Given the description of an element on the screen output the (x, y) to click on. 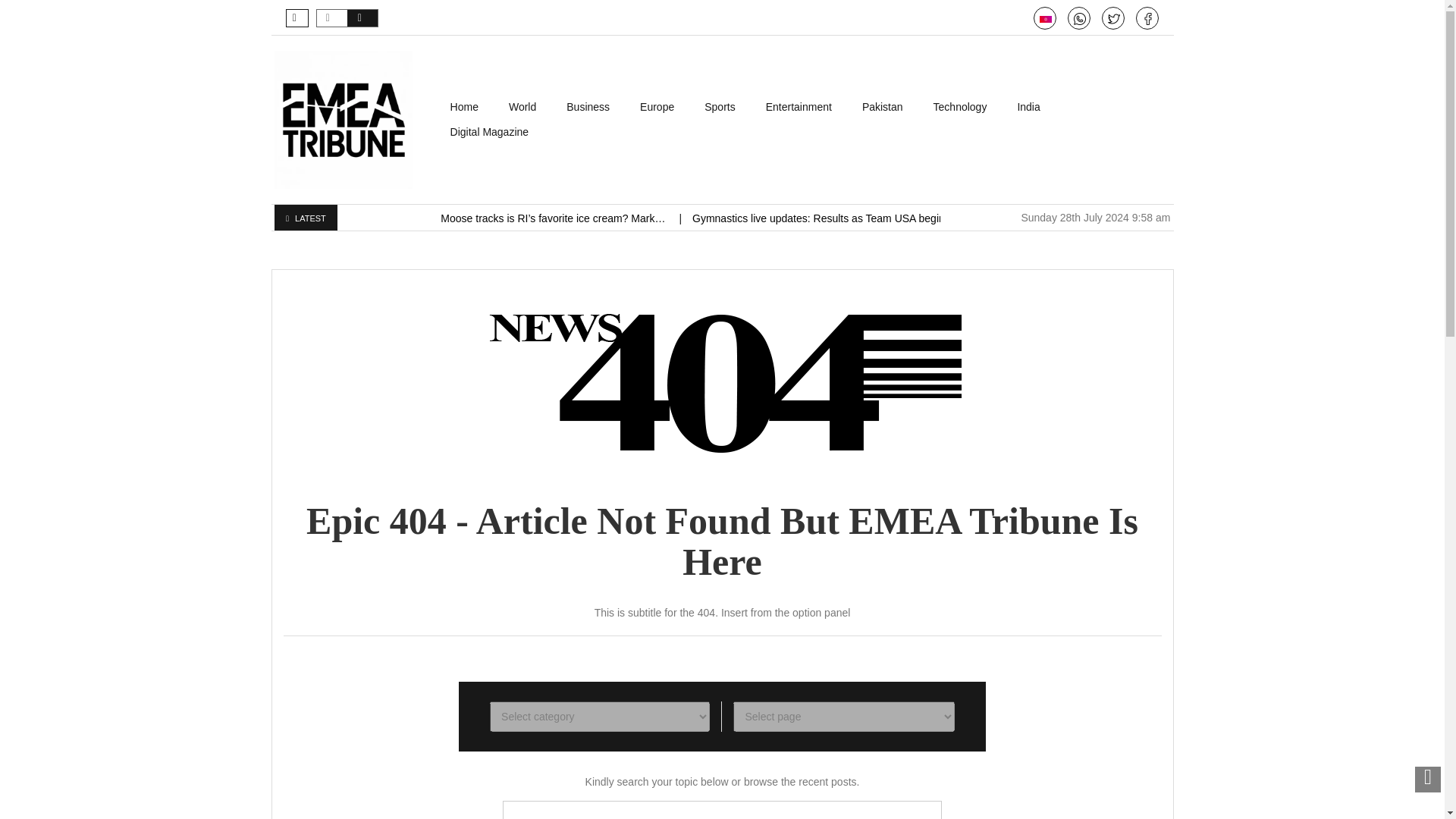
India (1027, 107)
Sports (718, 107)
Home (464, 107)
Call Us (1080, 19)
Twitter (1113, 19)
Business (587, 107)
Entertainment (799, 107)
Technology (960, 107)
Europe (656, 107)
Skip to content (470, 102)
Facebook (1147, 19)
World (522, 107)
Digital Magazine (489, 131)
Pakistan (882, 107)
Skip to content (470, 102)
